Given the description of an element on the screen output the (x, y) to click on. 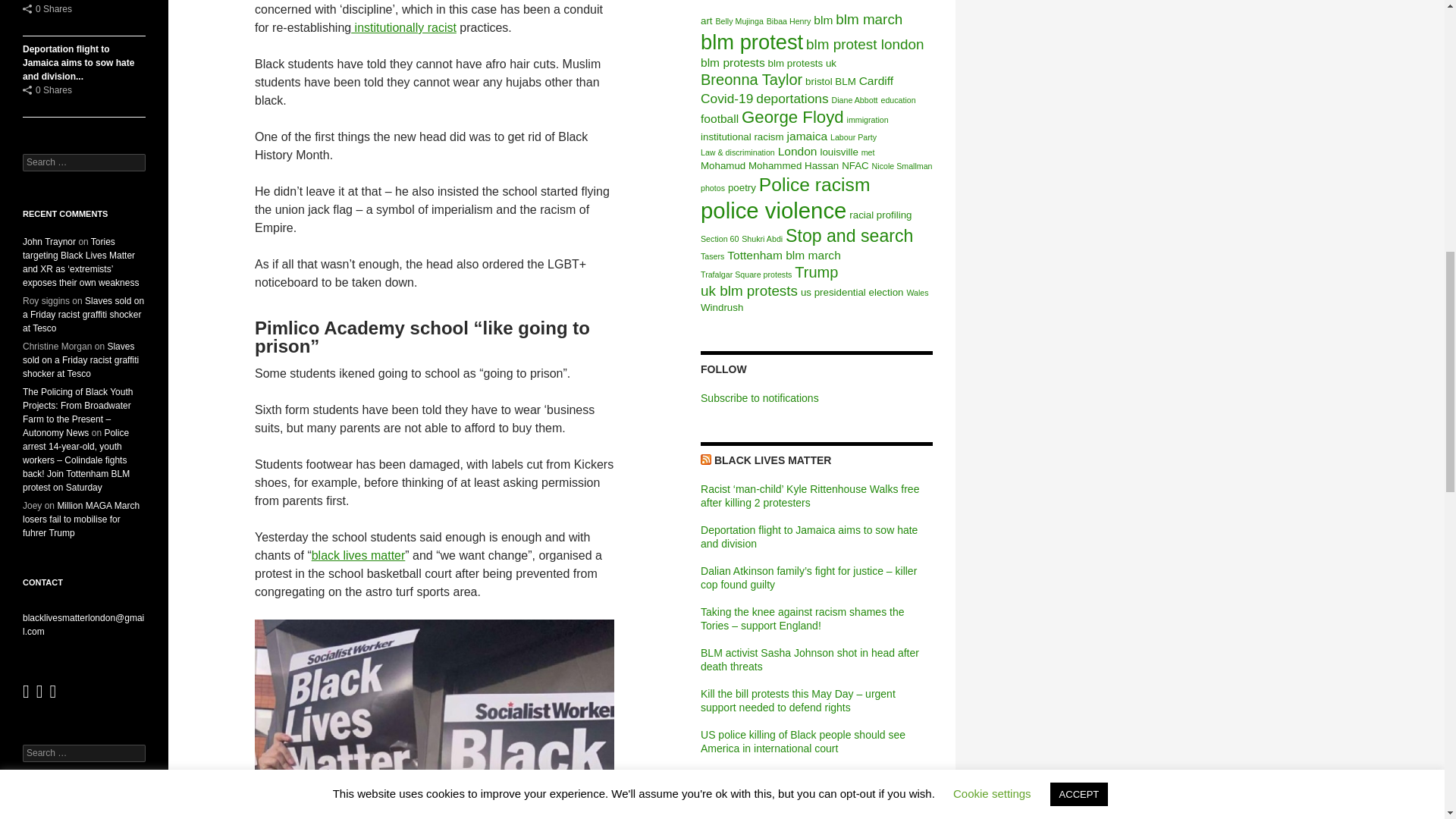
Belly Mujinga (738, 20)
Bibaa Henry (788, 20)
art (706, 20)
institutionally racist (403, 27)
black lives matter (358, 554)
